Given the description of an element on the screen output the (x, y) to click on. 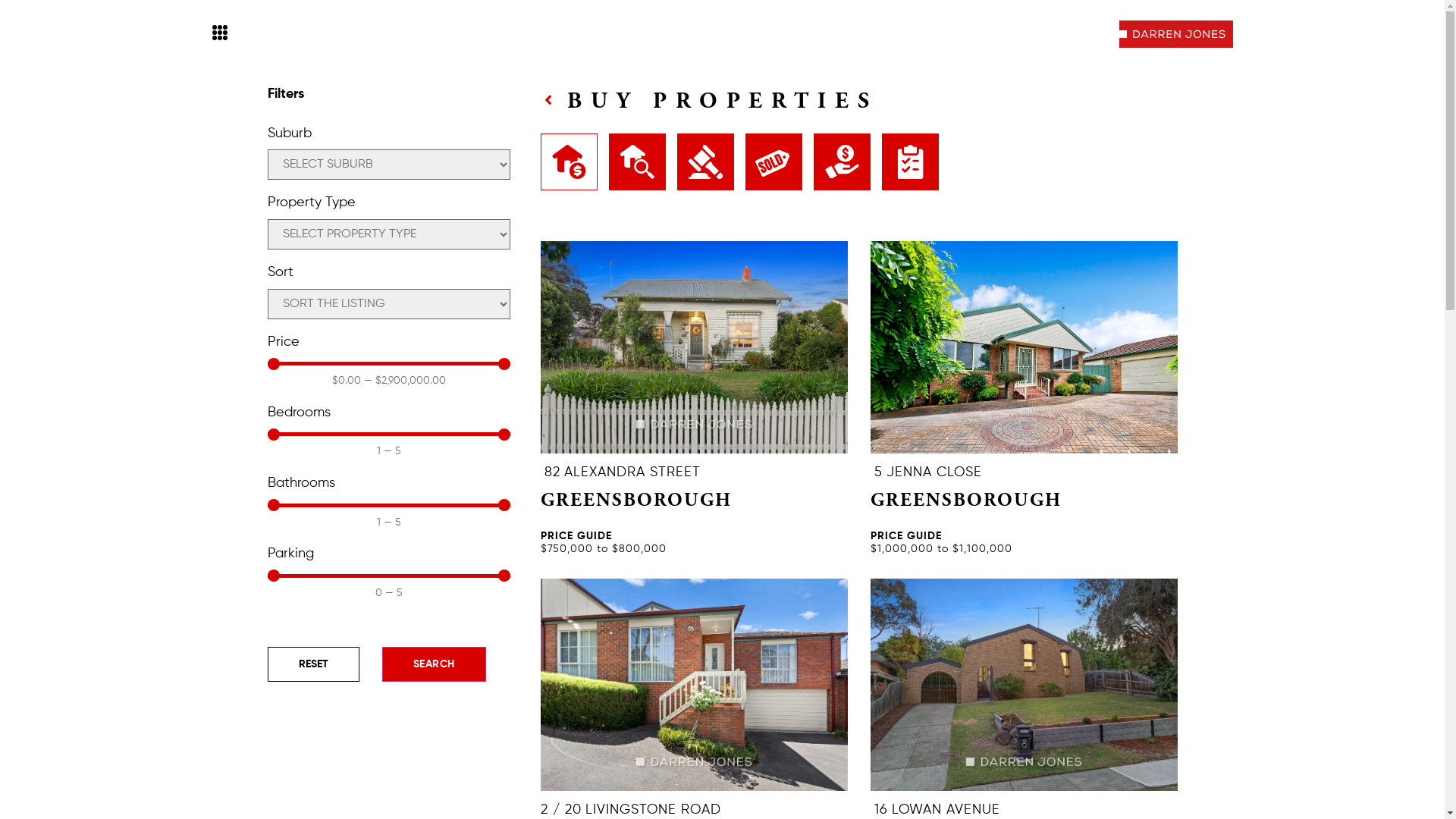
SEARCH Element type: text (434, 663)
5 Element type: text (877, 472)
JENNA CLOSE Element type: text (933, 472)
Auctions Element type: hover (704, 161)
GREENSBOROUGH Element type: text (635, 501)
Sold Element type: hover (772, 161)
Finance Element type: hover (840, 161)
GREENSBOROUGH Element type: text (965, 501)
ALEXANDRA STREET Element type: text (632, 472)
RESET Element type: text (312, 663)
Due Diligence Element type: hover (909, 161)
Buy Element type: hover (567, 161)
Open Times Element type: hover (636, 161)
82 Element type: text (552, 472)
